Given the description of an element on the screen output the (x, y) to click on. 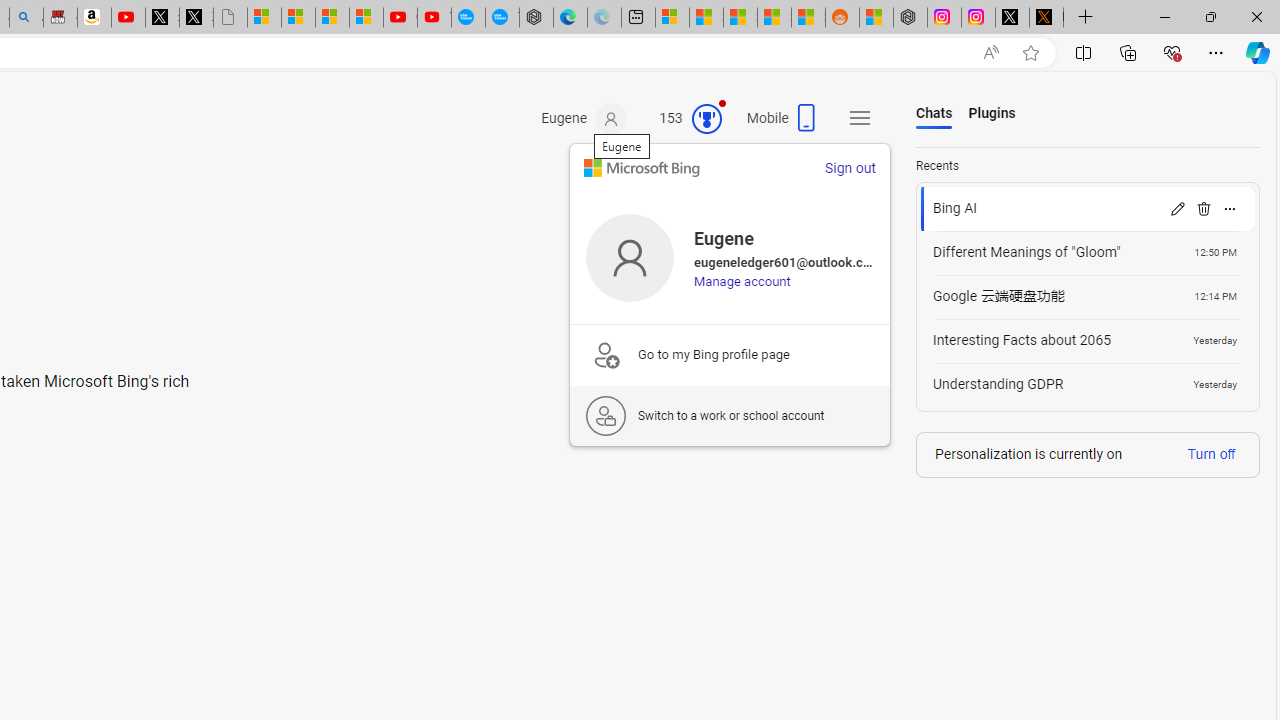
Close (1256, 16)
Turn off (1211, 453)
Load chat (1087, 384)
Shanghai, China hourly forecast | Microsoft Weather (740, 17)
work signin Switch to a work or school account (729, 415)
More options (1229, 208)
Minimize (1164, 16)
Restore (1210, 16)
Settings and more (Alt+F) (1215, 52)
Microsoft account | Microsoft Account Privacy Settings (671, 17)
Settings and quick links (859, 117)
